Given the description of an element on the screen output the (x, y) to click on. 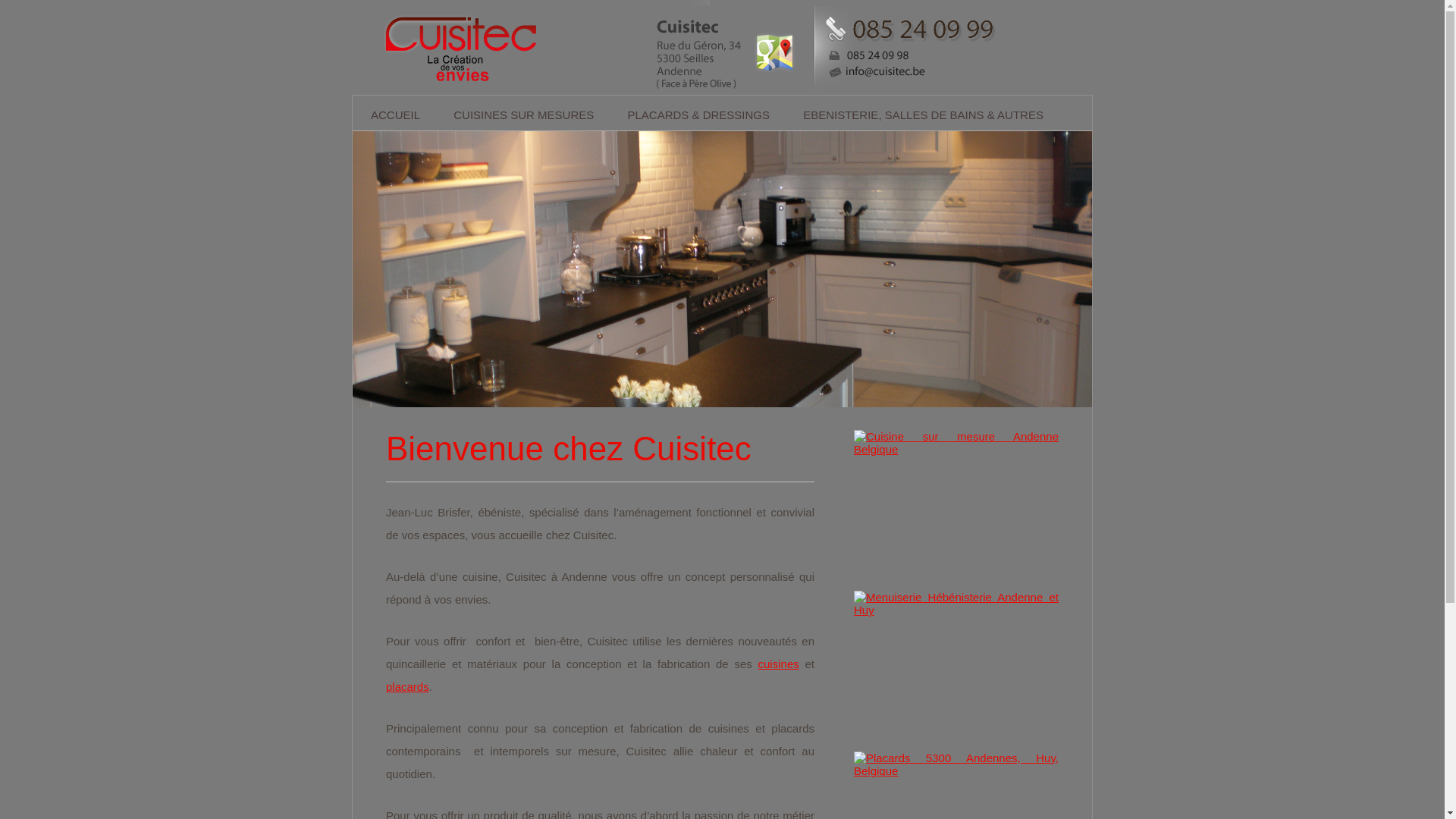
ACCUEIL Element type: text (395, 114)
placards Element type: text (407, 686)
CUISINES SUR MESURES Element type: text (523, 114)
PLACARDS & DRESSINGS Element type: text (698, 114)
EBENISTERIE, SALLES DE BAINS & AUTRES Element type: text (923, 114)
CONTACT Element type: text (722, 150)
cuisines Element type: text (778, 663)
